Given the description of an element on the screen output the (x, y) to click on. 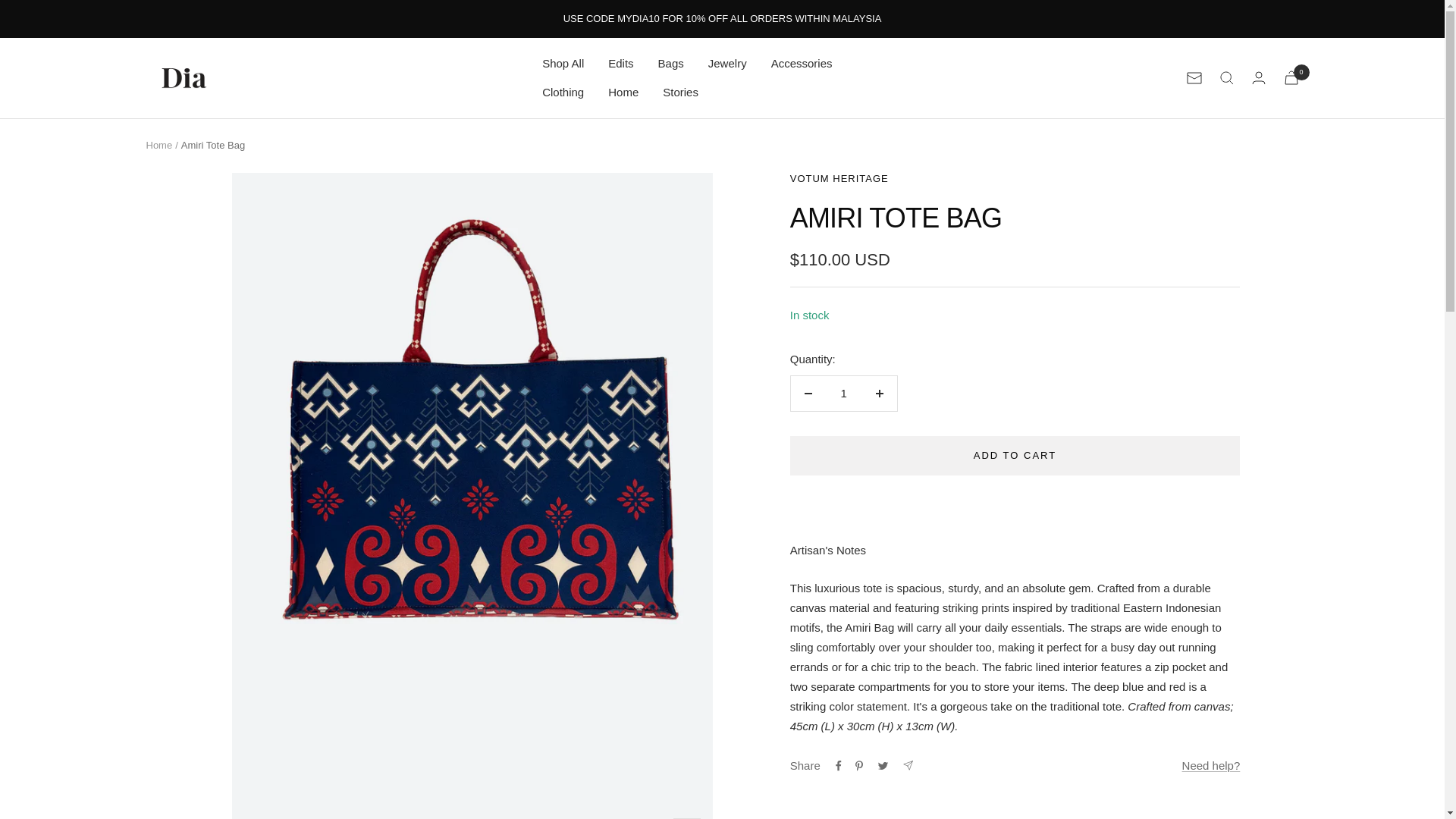
Increase quantity (878, 393)
Stories (680, 92)
ADD TO CART (1015, 455)
Shop All (562, 63)
0 (1291, 77)
Home (158, 144)
1 (843, 393)
Home (623, 92)
Jewelry (726, 63)
Edits (620, 63)
Decrease quantity (807, 393)
Dia (183, 78)
Bags (671, 63)
Clothing (562, 92)
VOTUM HERITAGE (839, 178)
